Given the description of an element on the screen output the (x, y) to click on. 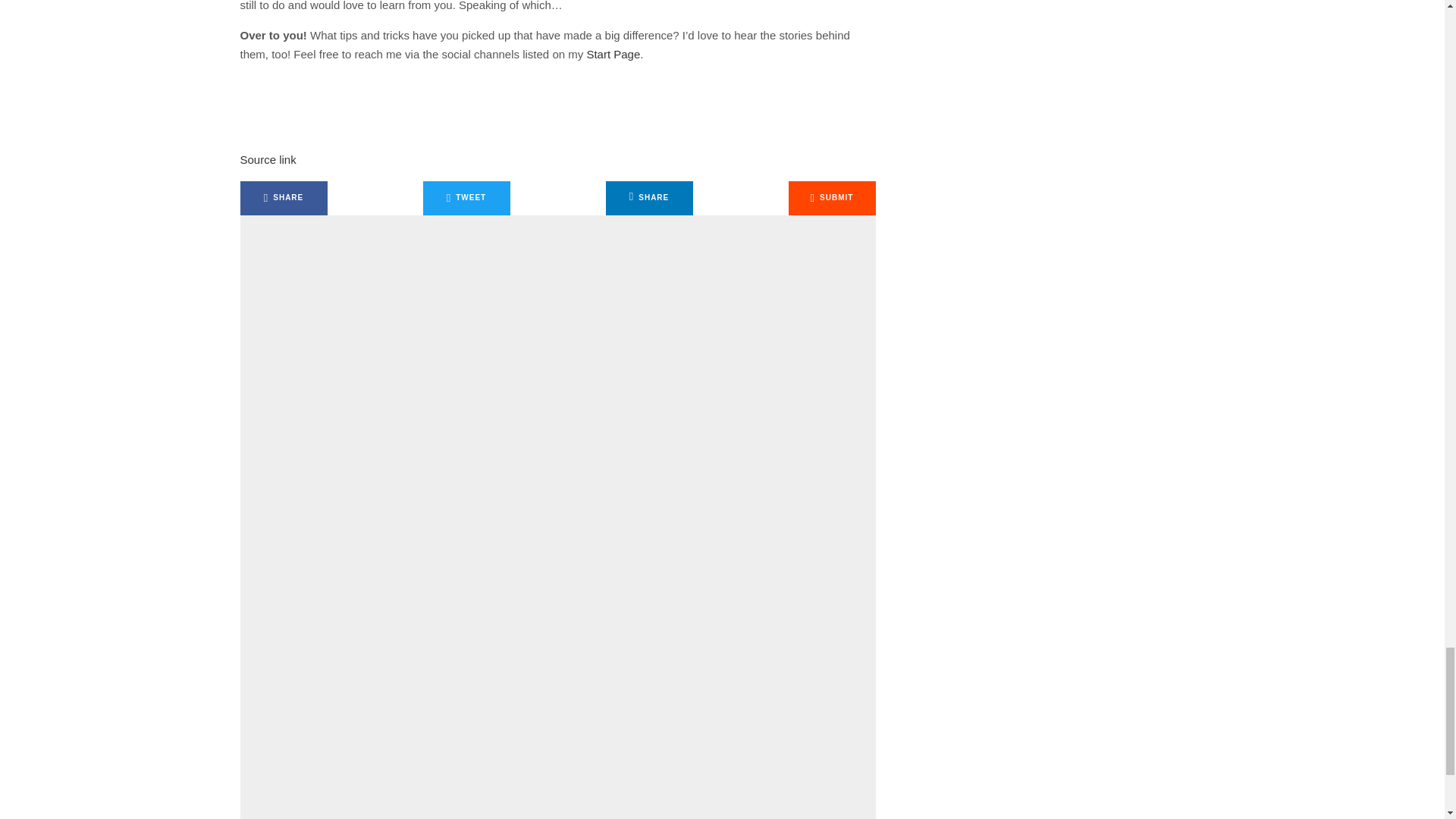
TWEET (467, 197)
Start Page (613, 53)
SUBMIT (832, 197)
SHARE (649, 197)
Source link (267, 159)
SHARE (283, 197)
